Given the description of an element on the screen output the (x, y) to click on. 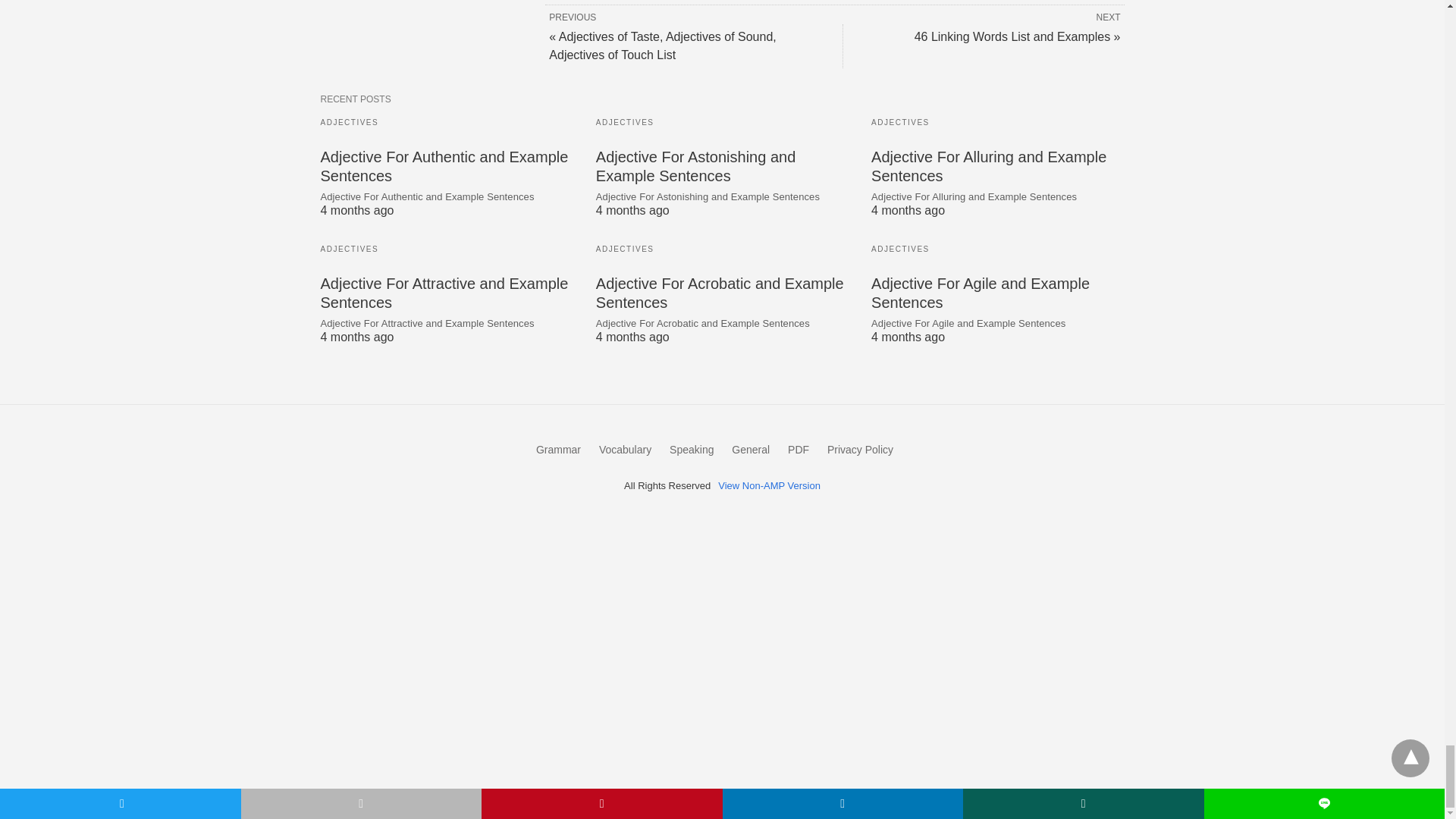
View Non-AMP Version (769, 485)
